Given the description of an element on the screen output the (x, y) to click on. 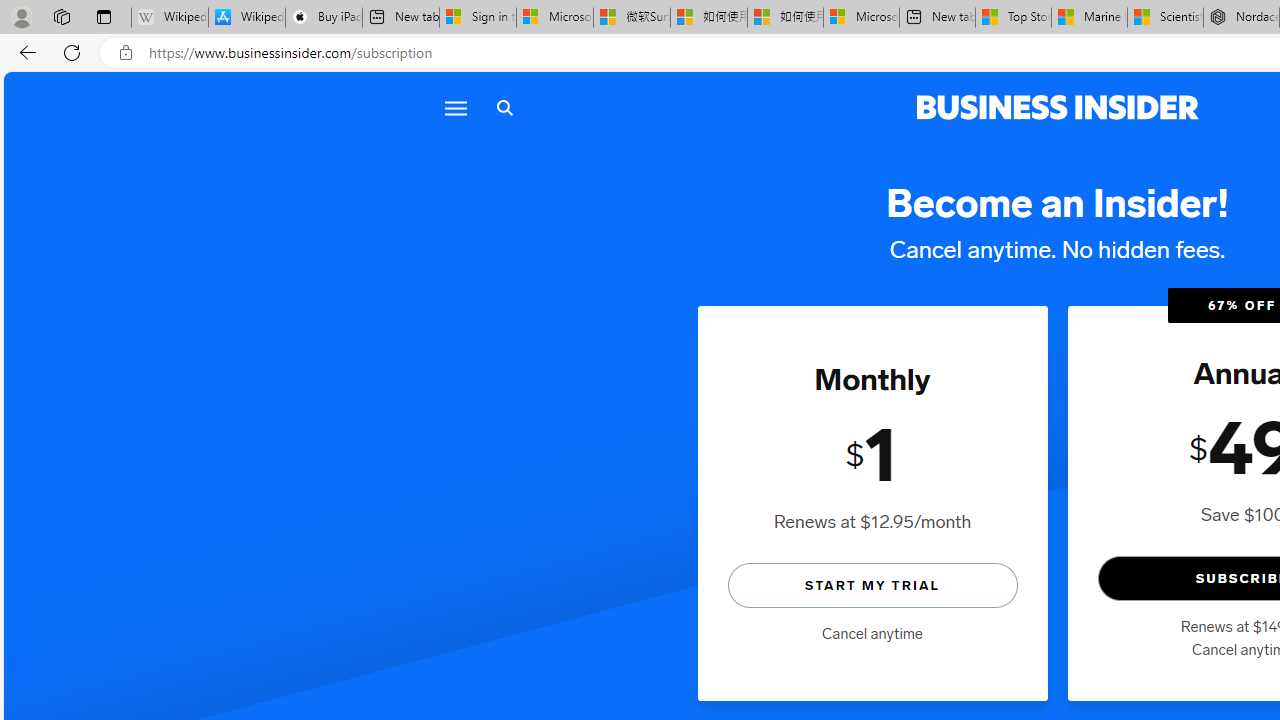
Menu icon (455, 107)
Business Insider logo (1057, 107)
Menu (454, 107)
